Given the description of an element on the screen output the (x, y) to click on. 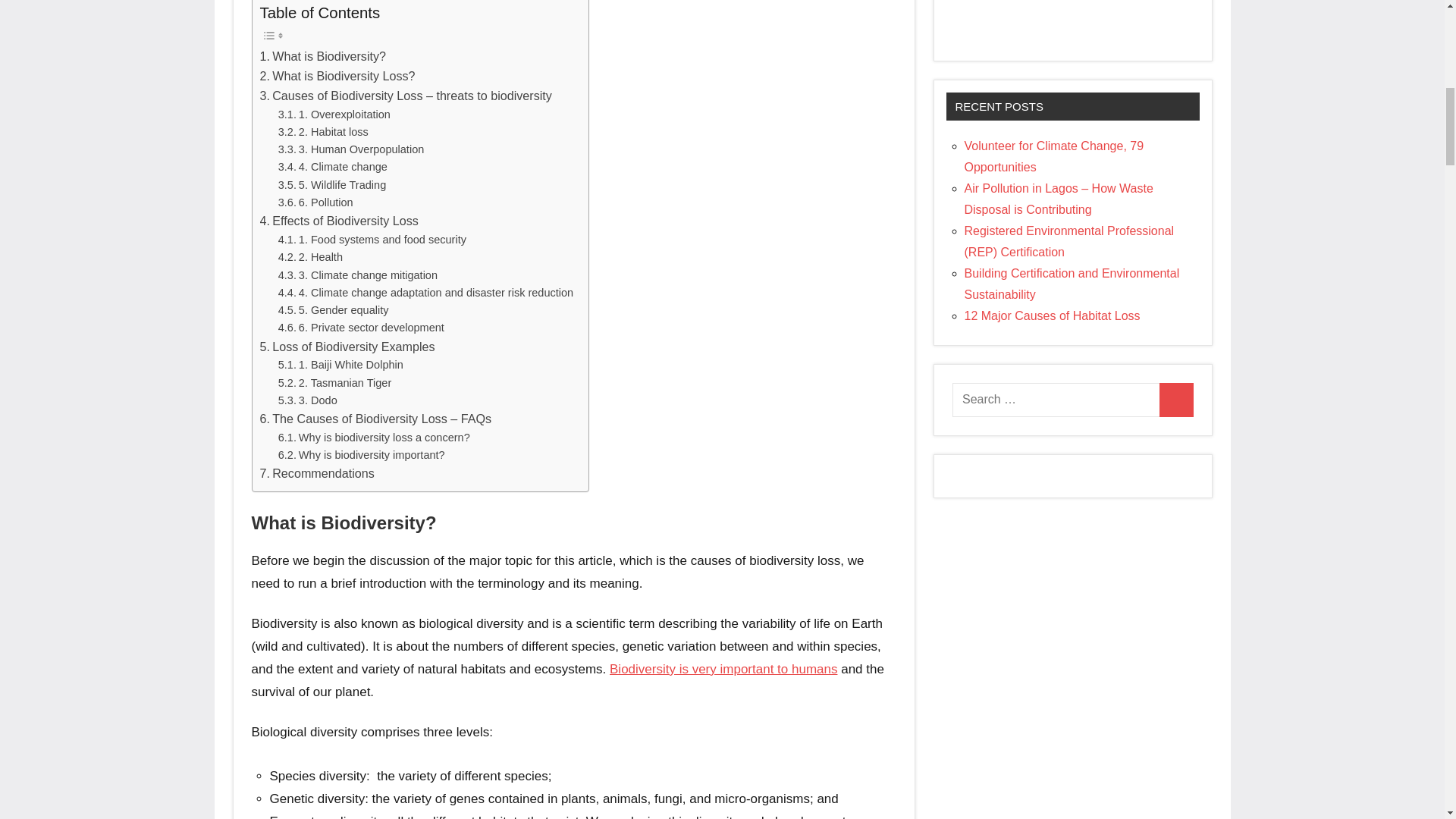
What is Biodiversity Loss? (336, 76)
5. Wildlife Trading (332, 185)
3. Climate change mitigation (358, 275)
What is Biodiversity Loss? (336, 76)
2. Health (310, 257)
Effects of Biodiversity Loss (338, 220)
What is Biodiversity? (322, 56)
1. Overexploitation (334, 114)
3. Human Overpopulation (351, 149)
1. Food systems and food security (371, 239)
